Given the description of an element on the screen output the (x, y) to click on. 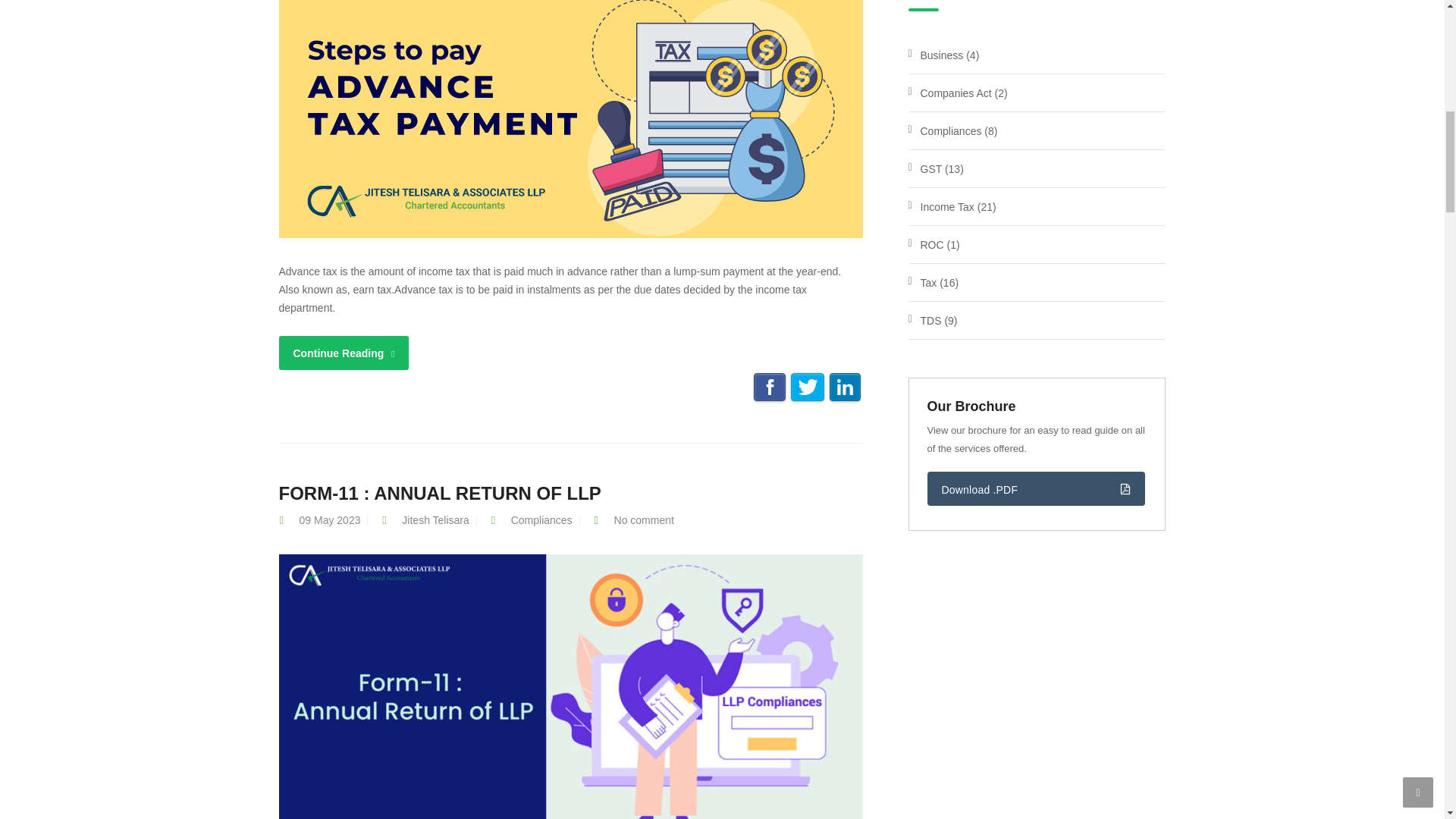
View all posts by Jitesh Telisara (434, 520)
